Given the description of an element on the screen output the (x, y) to click on. 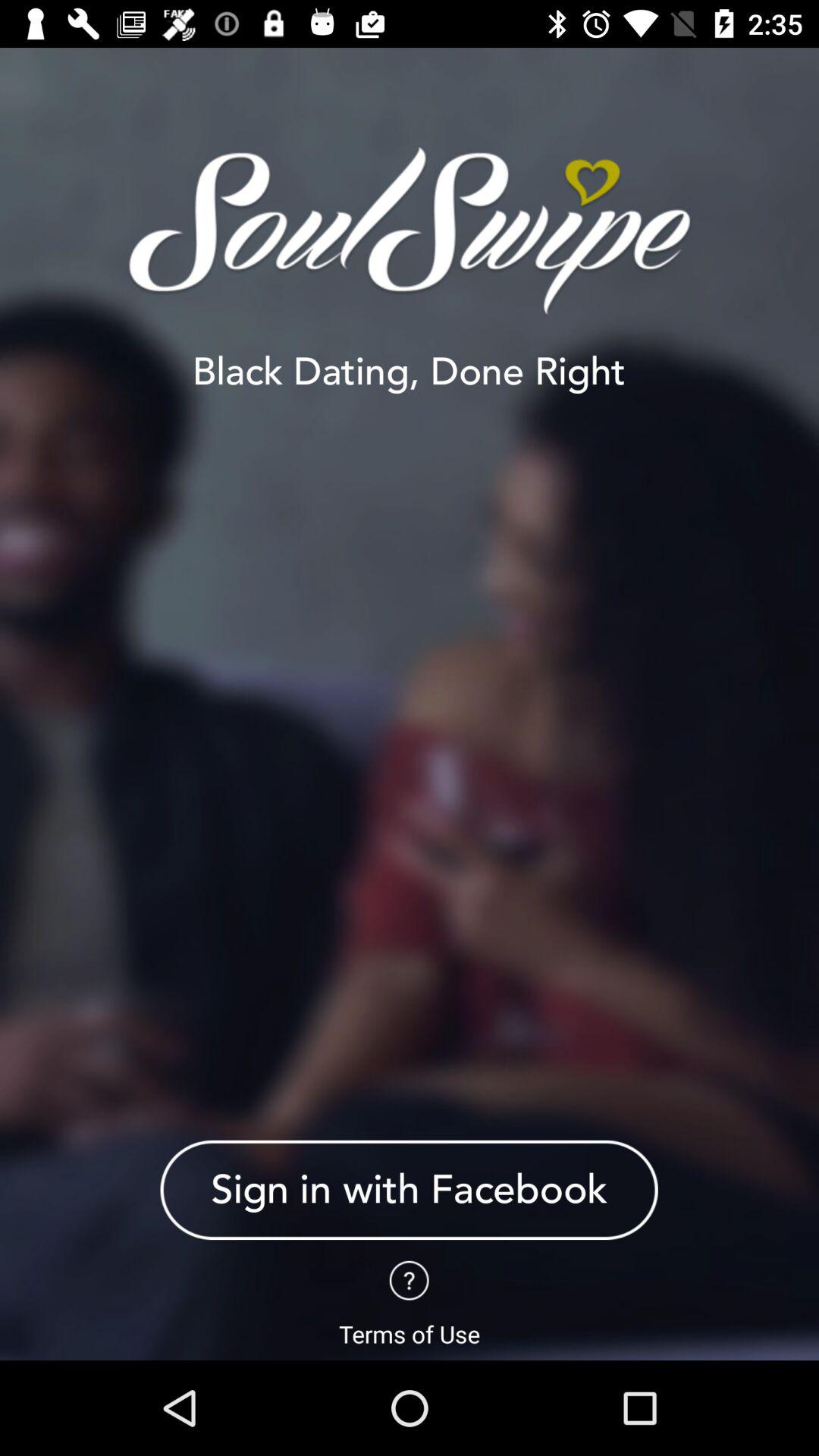
question tag page (409, 1280)
